Given the description of an element on the screen output the (x, y) to click on. 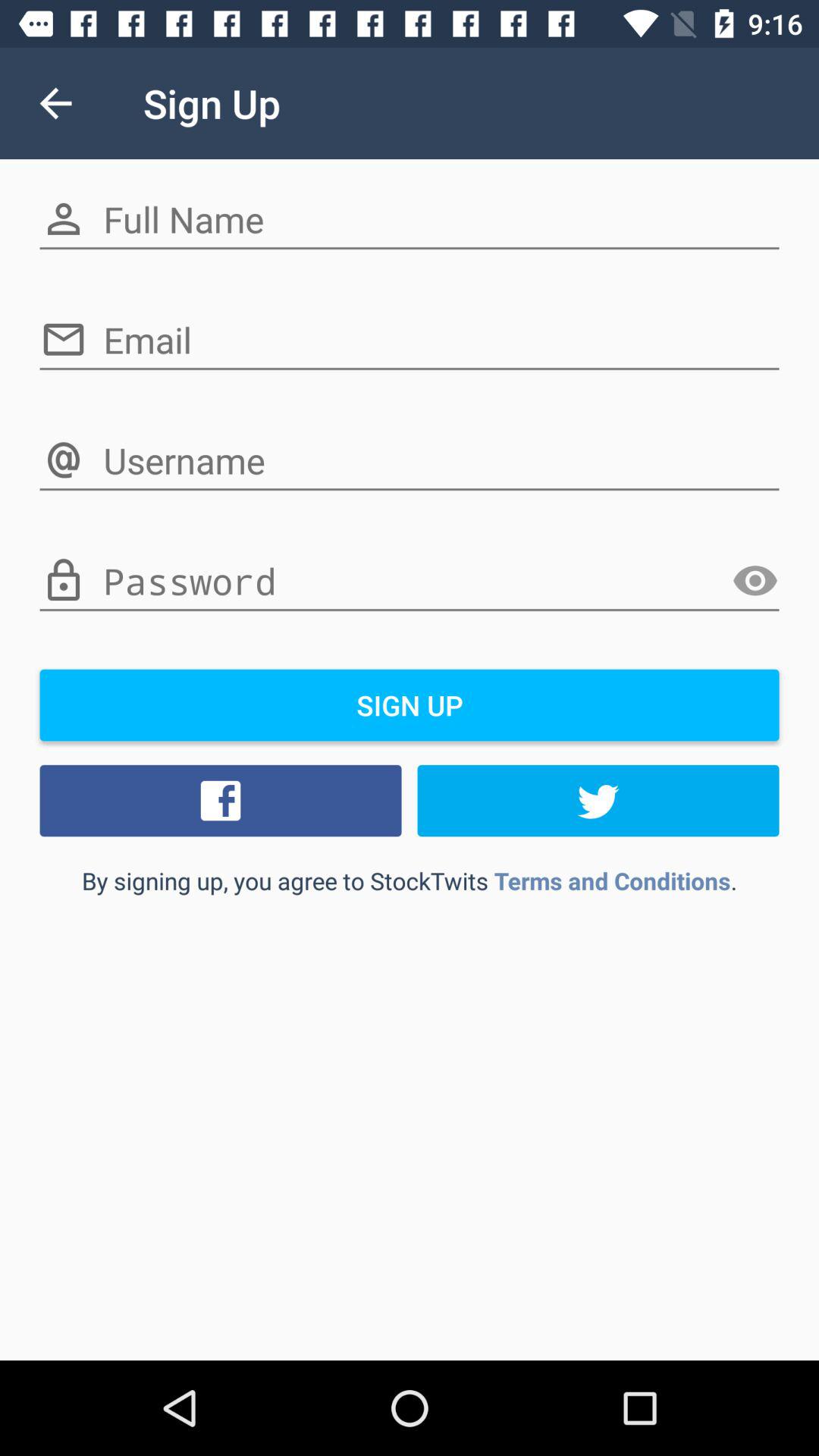
open icon below the sign up item (598, 800)
